Given the description of an element on the screen output the (x, y) to click on. 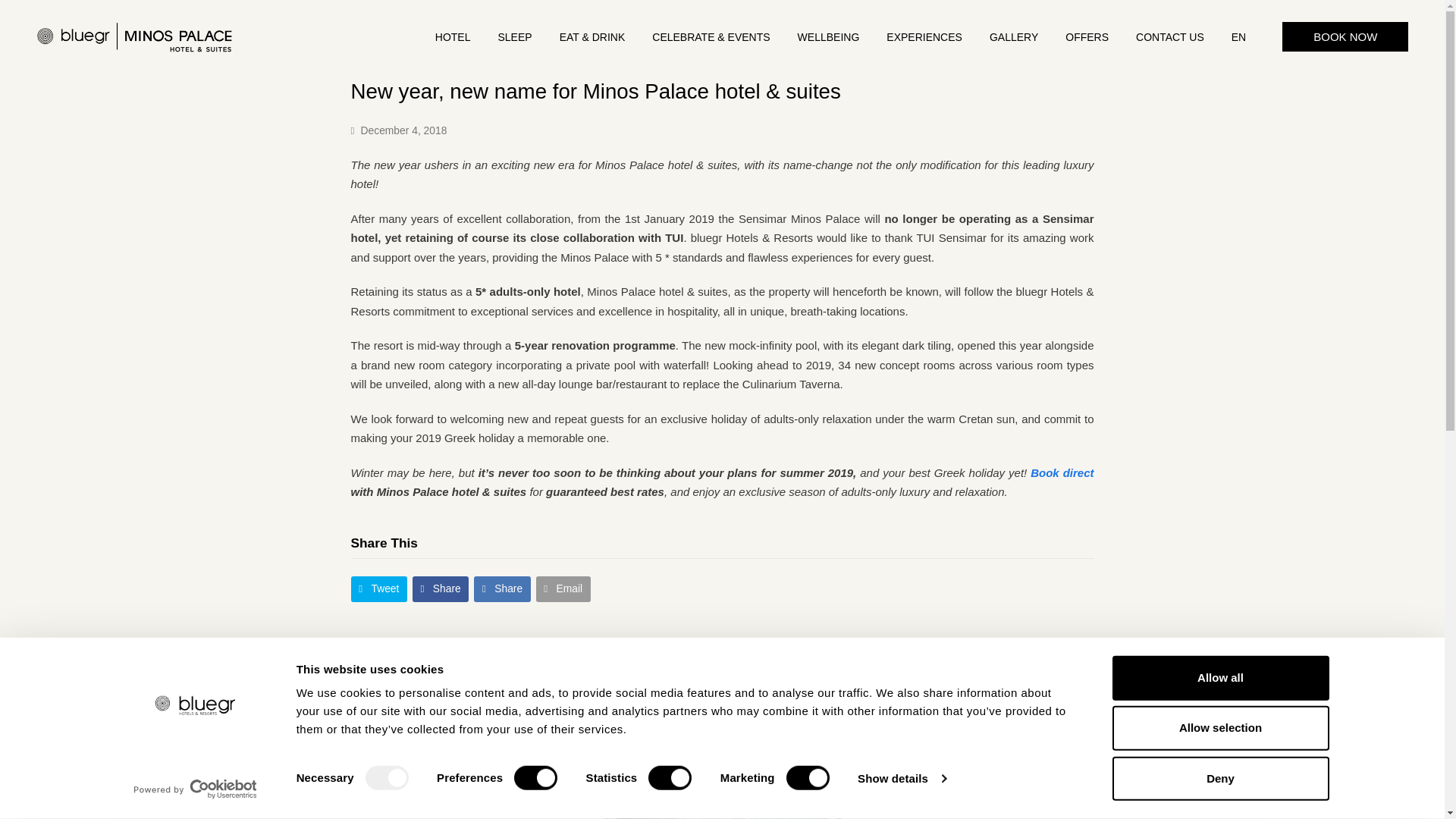
Show details (900, 778)
